Given the description of an element on the screen output the (x, y) to click on. 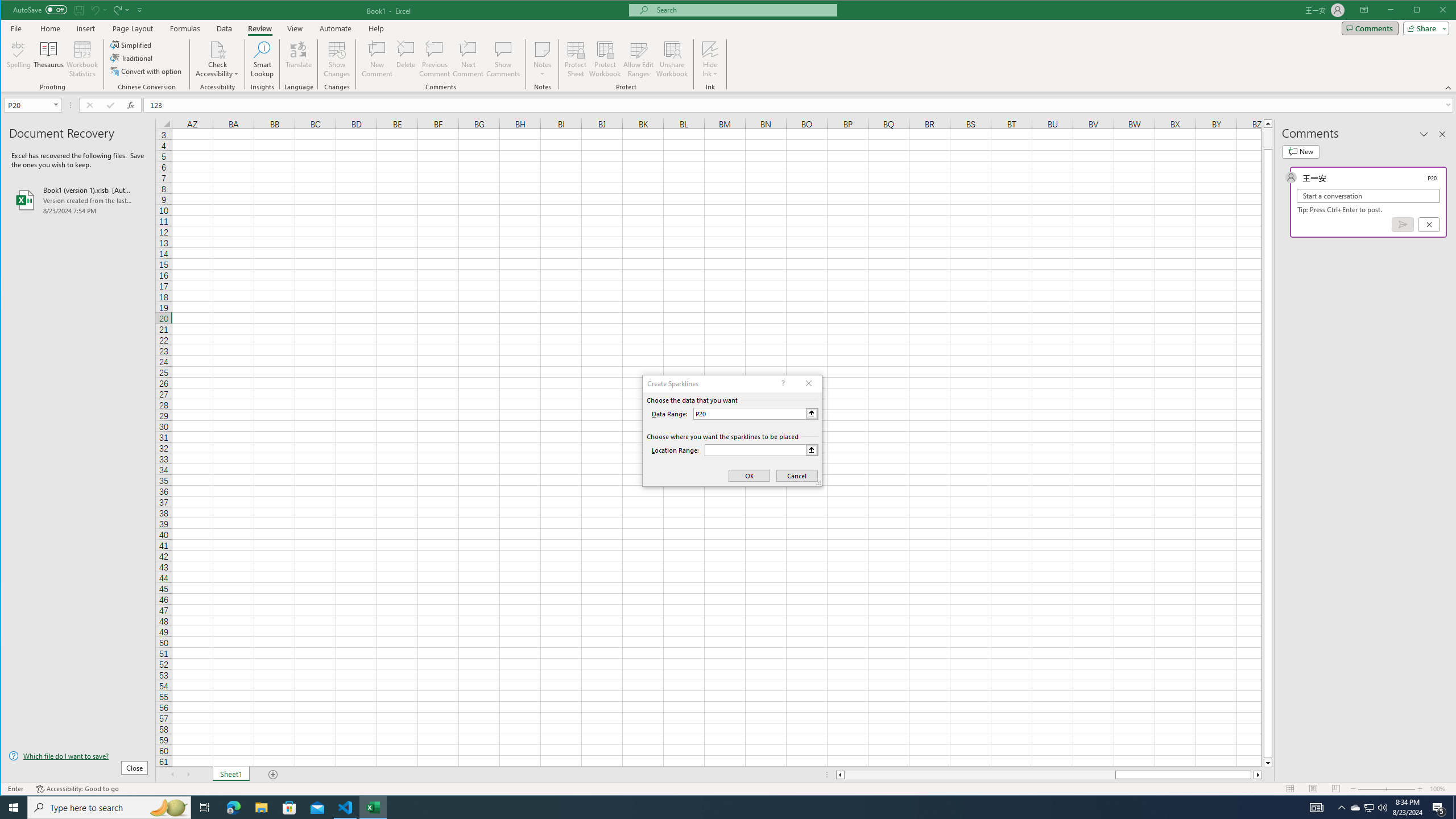
Protect Sheet... (575, 59)
Next Comment (467, 59)
View (294, 28)
Check Accessibility (217, 48)
New comment (1300, 151)
Zoom (1386, 788)
Scroll Left (172, 774)
Ribbon Display Options (1364, 9)
Column right (1258, 774)
Traditional (132, 57)
